Given the description of an element on the screen output the (x, y) to click on. 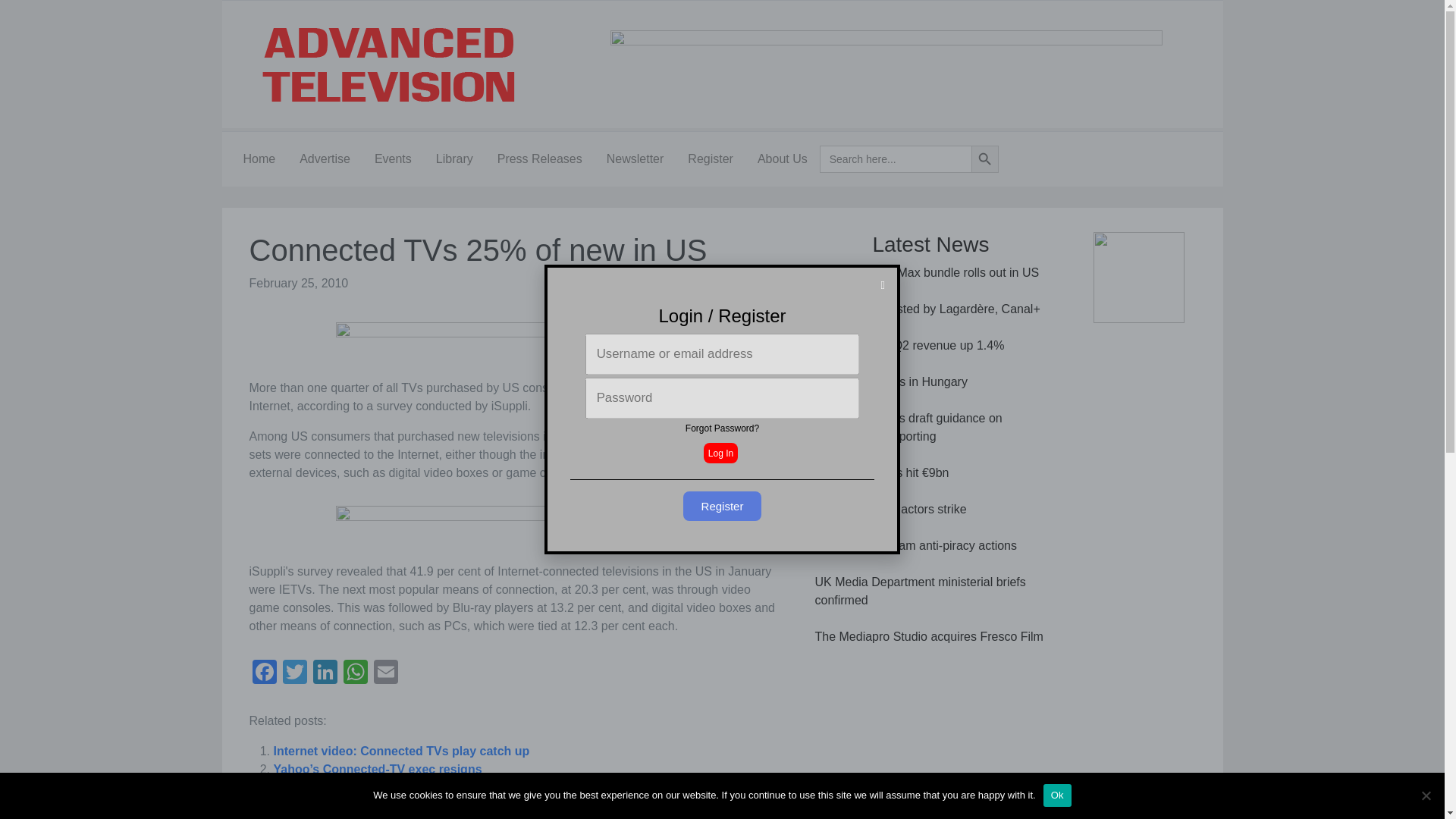
deo PMPs will outsell audio models by 2009 (399, 787)
Twitter (293, 673)
Events (392, 158)
Facebook (263, 673)
US video game actors strike (889, 508)
WhatsApp (354, 673)
ACE hails Vietnam anti-piracy actions (914, 545)
Twitter (293, 673)
UK Media Department ministerial briefs confirmed (919, 590)
Home (258, 158)
Log In (720, 453)
WhatsApp (354, 673)
Newsletter (635, 158)
Register (710, 158)
About Us (782, 158)
